Given the description of an element on the screen output the (x, y) to click on. 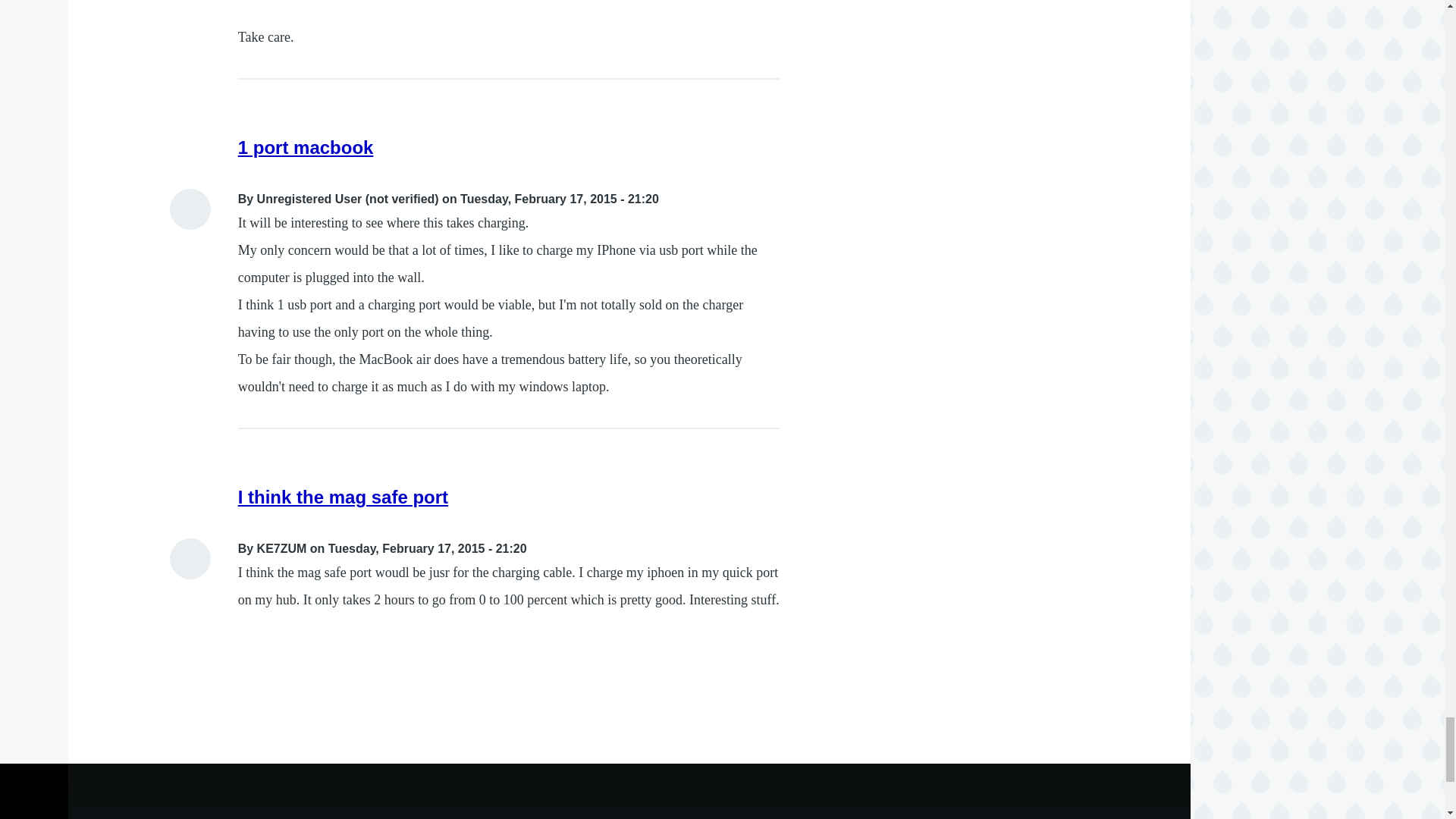
1 port macbook (306, 147)
